Given the description of an element on the screen output the (x, y) to click on. 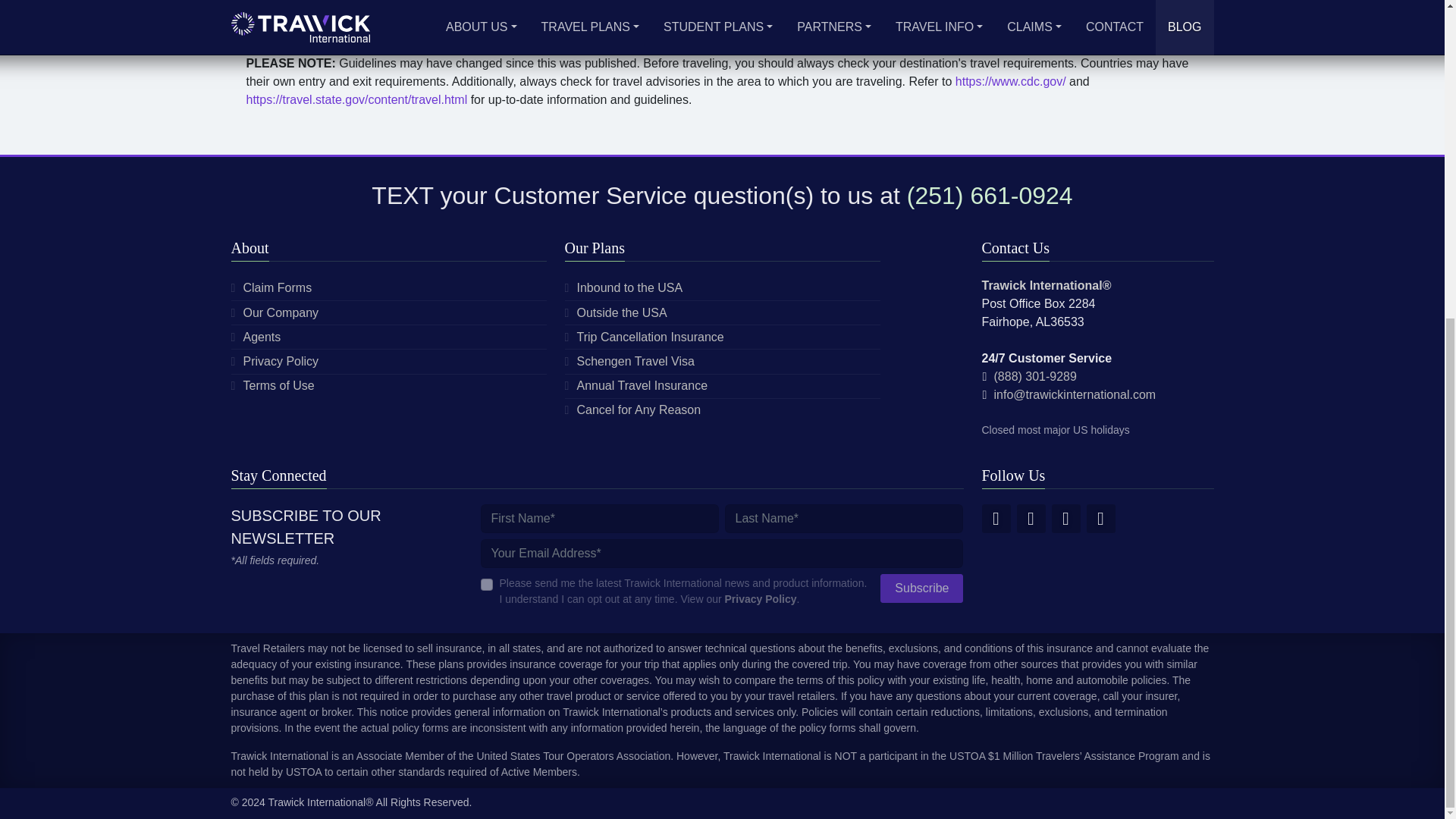
true (486, 584)
CDC website (1010, 81)
Government Travel Website (356, 99)
